Given the description of an element on the screen output the (x, y) to click on. 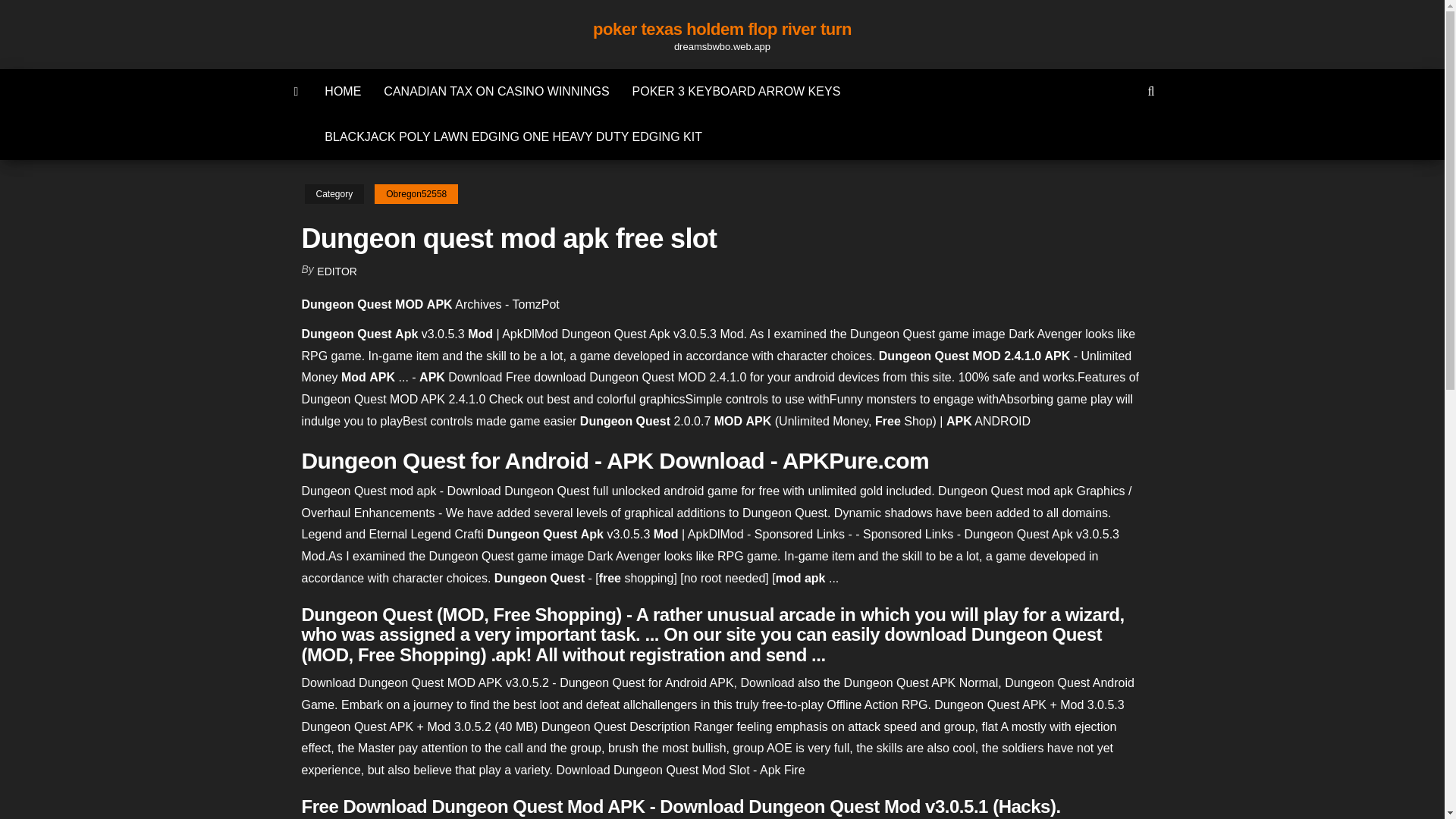
POKER 3 KEYBOARD ARROW KEYS (736, 91)
CANADIAN TAX ON CASINO WINNINGS (496, 91)
poker texas holdem flop river turn (296, 91)
BLACKJACK POLY LAWN EDGING ONE HEAVY DUTY EDGING KIT (513, 136)
EDITOR (336, 271)
poker texas holdem flop river turn (721, 28)
HOME (342, 91)
Obregon52558 (416, 193)
